Given the description of an element on the screen output the (x, y) to click on. 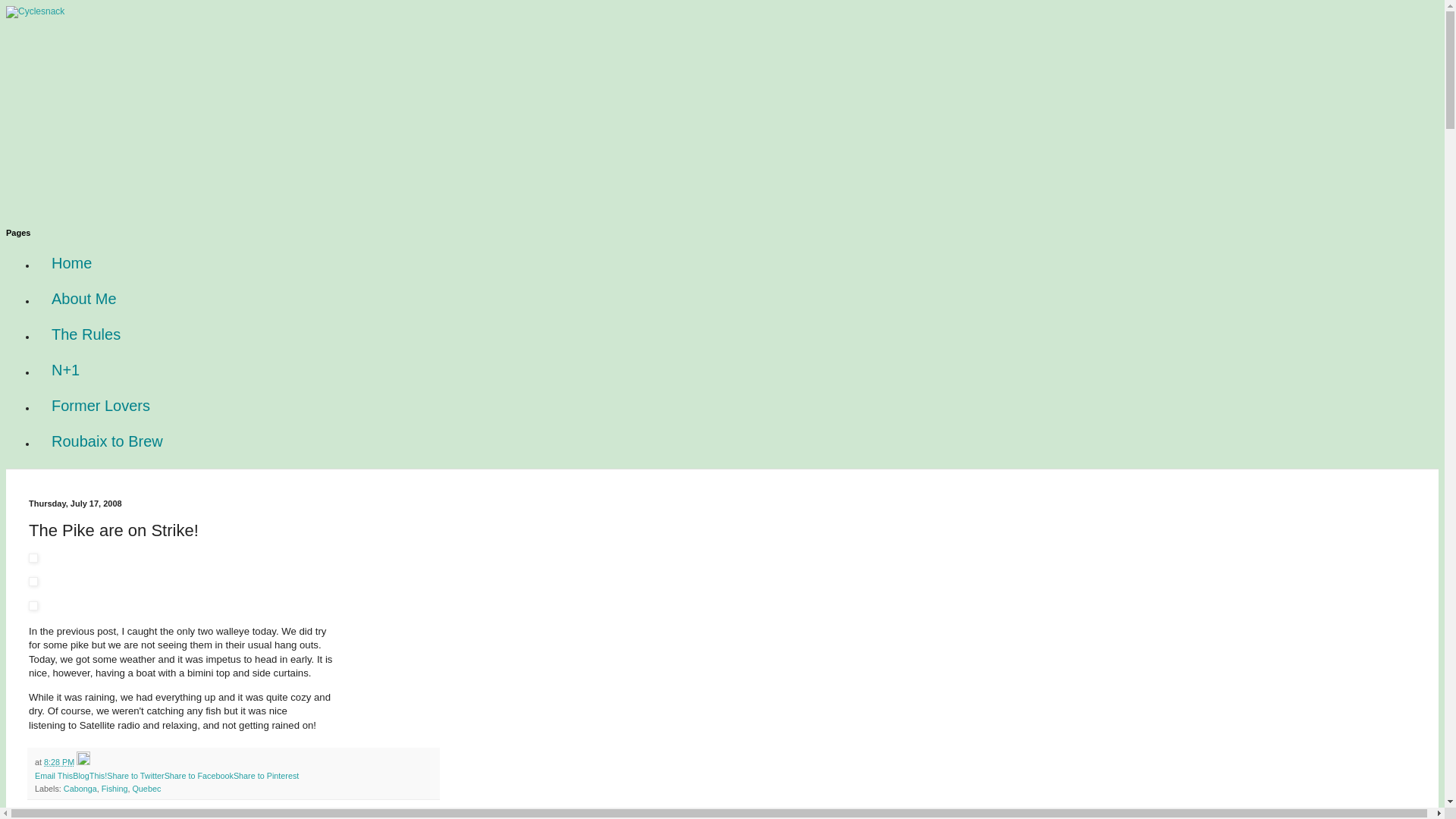
Share to Twitter (134, 775)
The Rules (85, 334)
Former Lovers (100, 406)
Email This (53, 775)
permanent link (58, 761)
Share to Facebook (198, 775)
BlogThis! (89, 775)
Quebec (146, 788)
About Me (84, 298)
Share to Pinterest (265, 775)
Email This (53, 775)
BlogThis! (89, 775)
Share to Pinterest (265, 775)
Share to Twitter (134, 775)
Share to Facebook (198, 775)
